Given the description of an element on the screen output the (x, y) to click on. 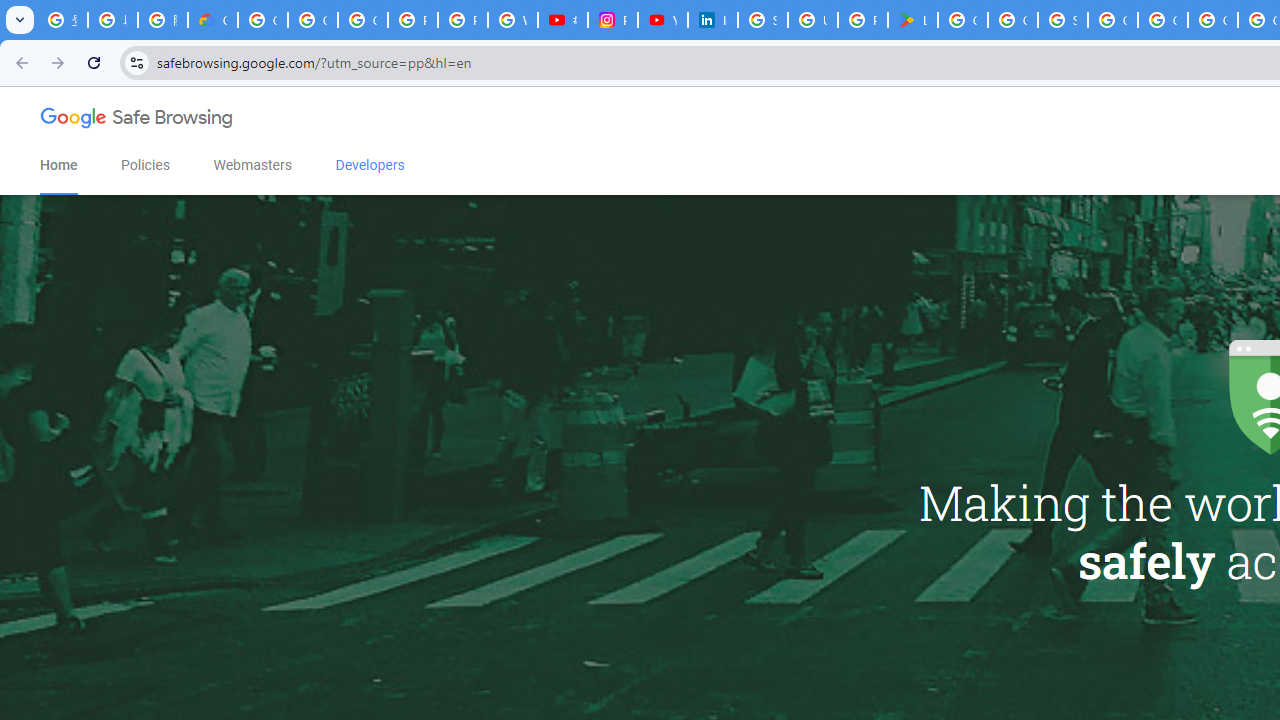
Policies (145, 165)
Google Workspace - Specific Terms (1013, 20)
Google Safe Browsing (137, 121)
#nbabasketballhighlights - YouTube (562, 20)
Sign in - Google Accounts (763, 20)
YouTube Culture & Trends - On The Rise: Handcam Videos (662, 20)
